Given the description of an element on the screen output the (x, y) to click on. 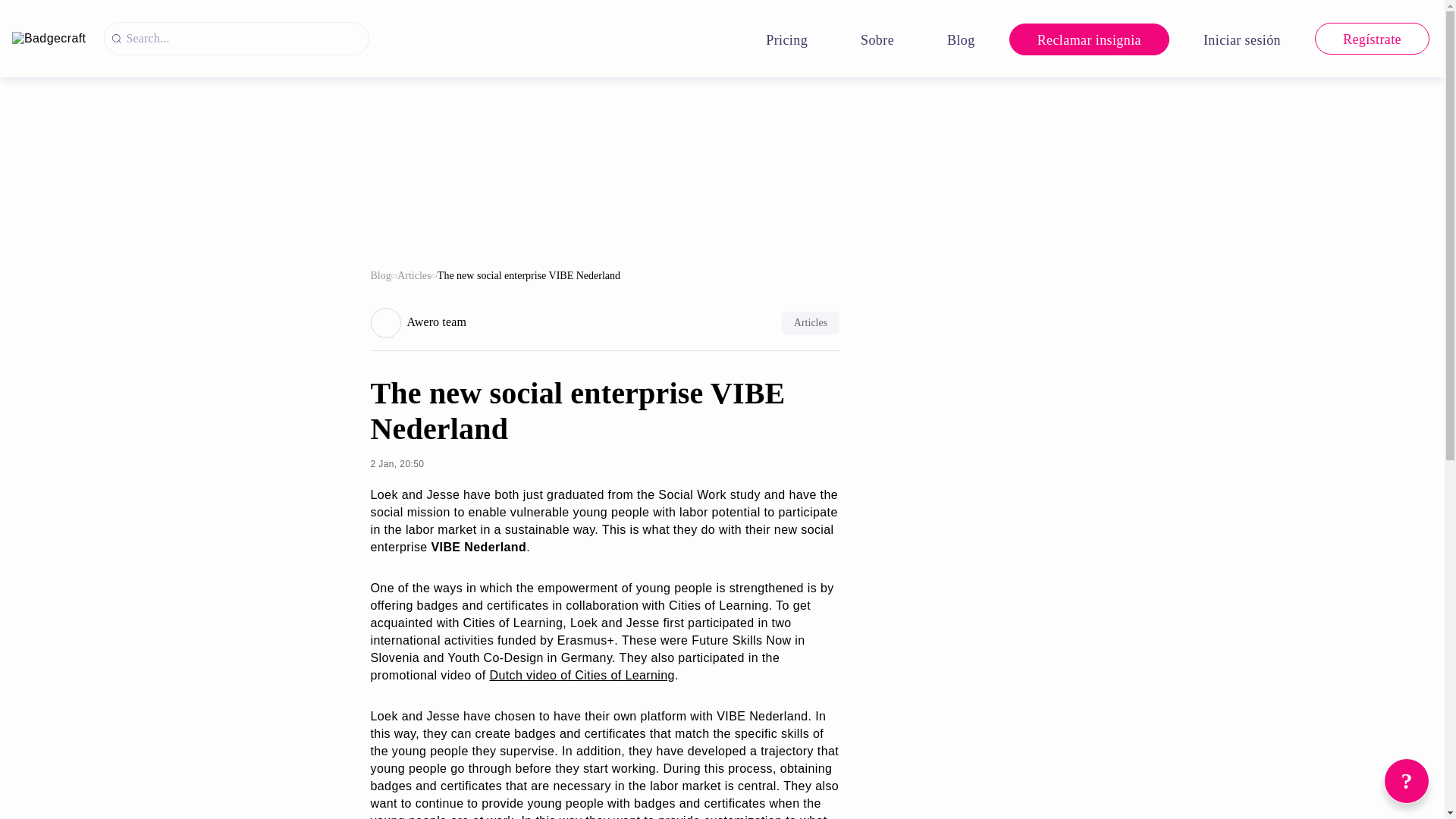
Pricing (786, 39)
Articles (413, 275)
The new social enterprise VIBE Nederland (529, 275)
Reclamar insignia (1089, 39)
Articles (810, 323)
Blog (379, 275)
Blog (960, 39)
Sobre (876, 39)
Dutch video of Cities of Learning (581, 675)
